Given the description of an element on the screen output the (x, y) to click on. 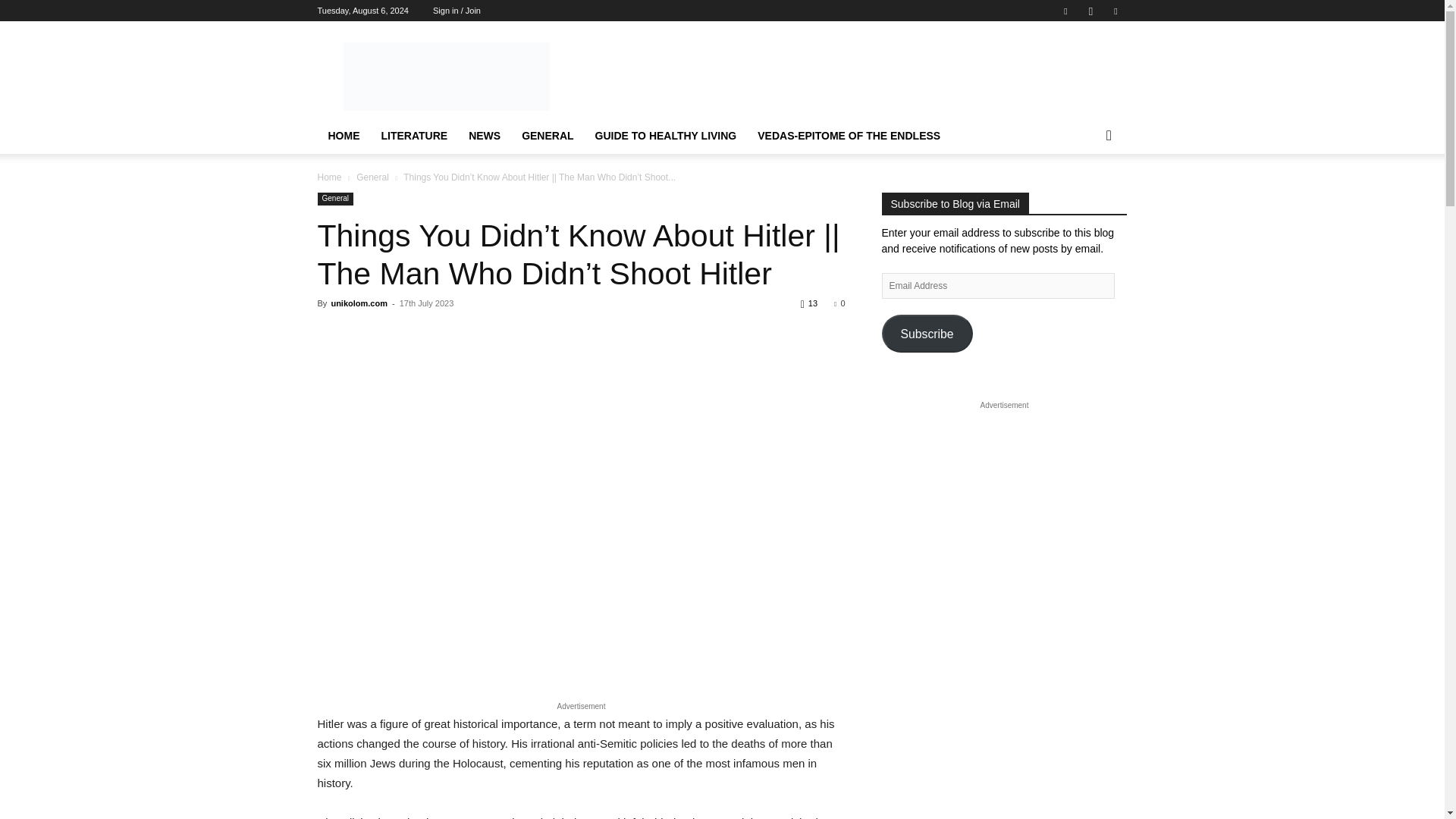
pen down your thoughts (445, 76)
Mail (1114, 10)
Facebook (1065, 10)
Instagram (1090, 10)
